Given the description of an element on the screen output the (x, y) to click on. 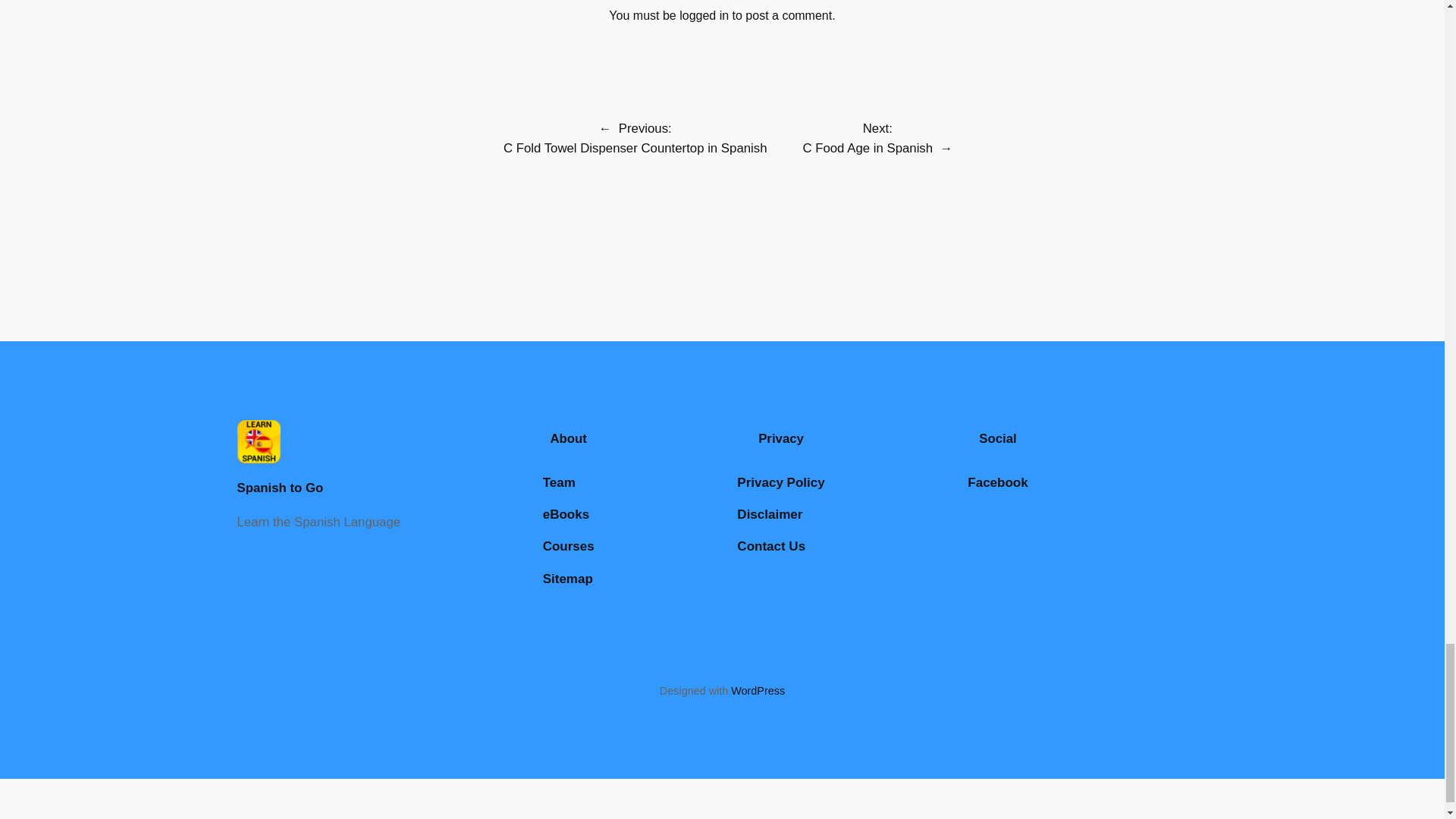
Sitemap (567, 578)
Courses (568, 546)
Team (559, 483)
Spanish to Go (279, 487)
Previous: C Fold Towel Dispenser Countertop in Spanish (635, 138)
Next: C Food Age in Spanish (867, 138)
logged in (704, 15)
eBooks (566, 514)
